Given the description of an element on the screen output the (x, y) to click on. 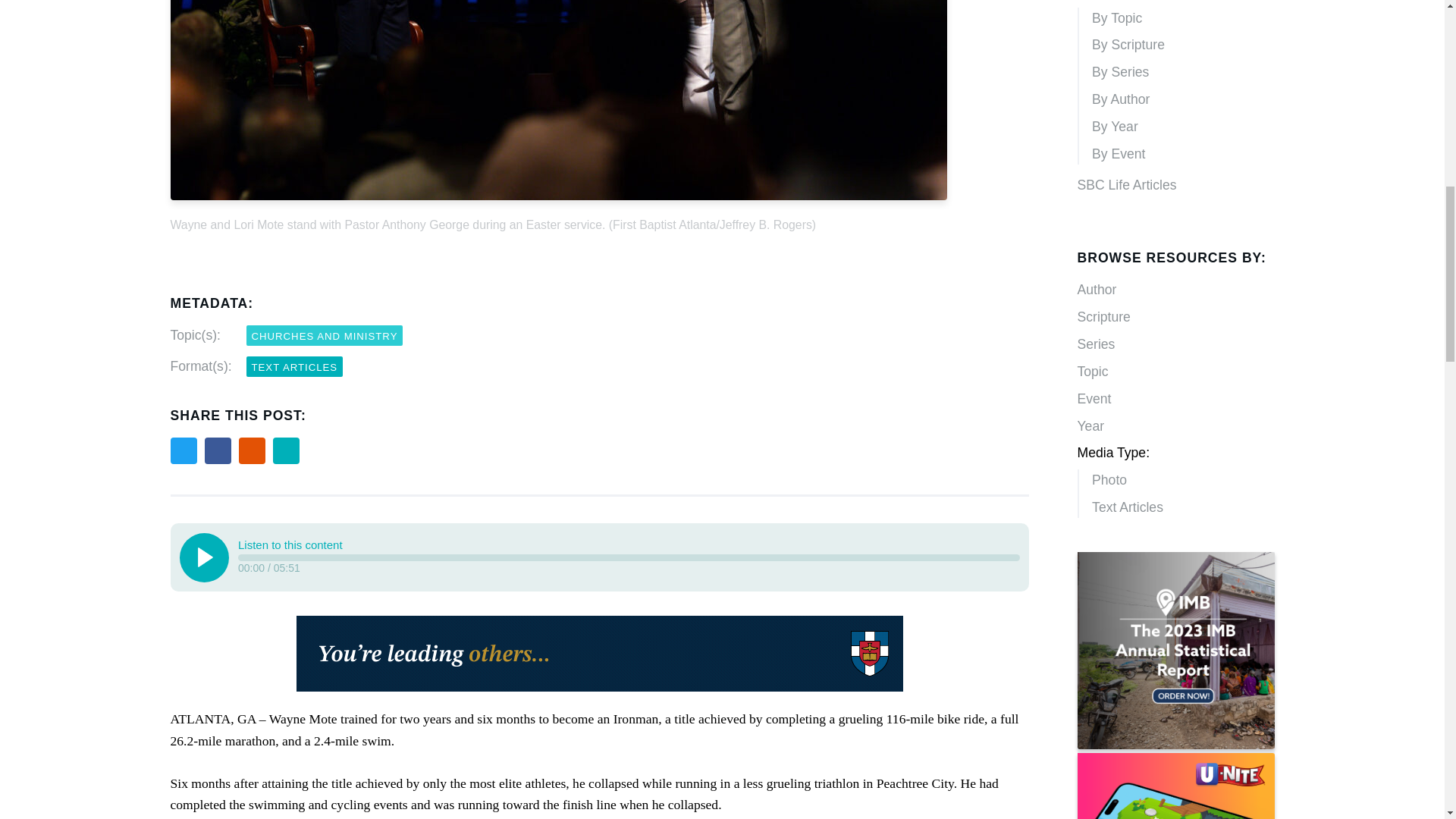
CHURCHES AND MINISTRY (324, 335)
TEXT ARTICLES (294, 366)
